Given the description of an element on the screen output the (x, y) to click on. 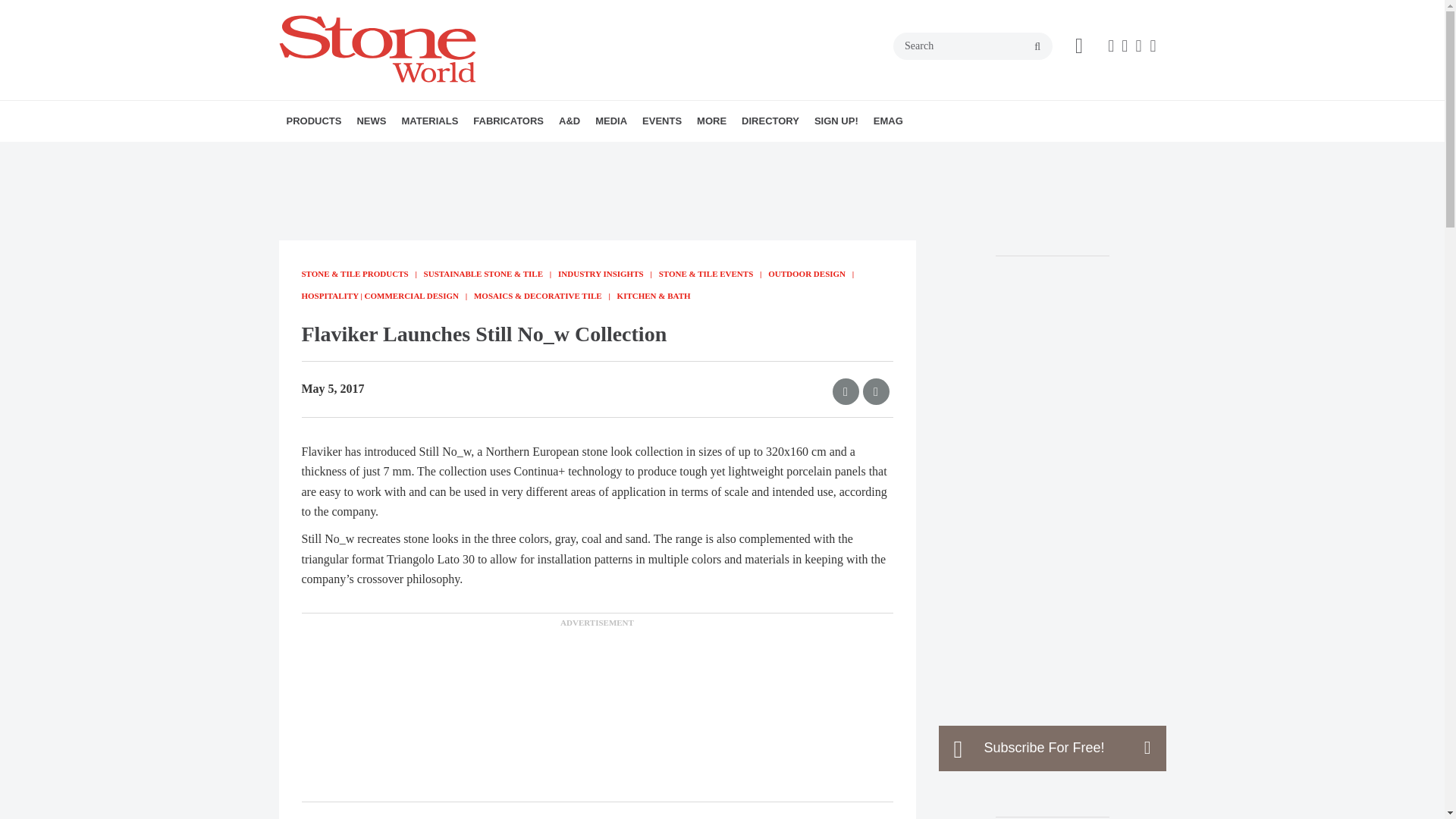
RESIDENTIAL (679, 154)
FABRICATOR CASE STUDIES (567, 154)
PODCASTS (689, 154)
EBOOK (695, 154)
TILE (501, 154)
PRODUCTS (314, 120)
NEWS (371, 120)
FABRICATORS (508, 120)
MACHINERY (373, 154)
INTERIOR DESIGN (659, 154)
